Given the description of an element on the screen output the (x, y) to click on. 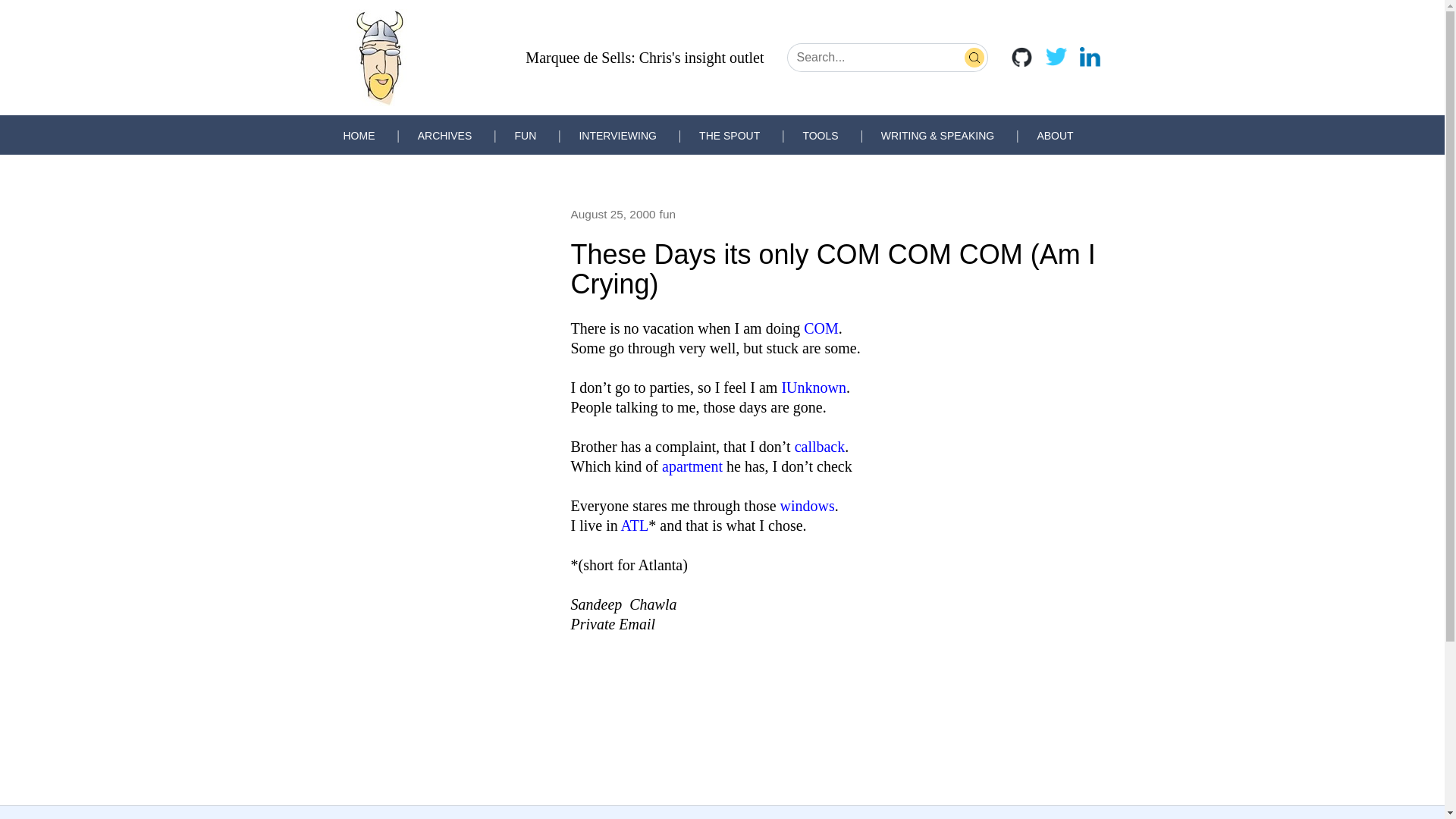
INTERVIEWING (617, 135)
ABOUT (1054, 135)
TOOLS (820, 135)
August 25, 2000 (612, 214)
THE SPOUT (729, 135)
ARCHIVES (444, 135)
HOME (358, 135)
Marquee de Sells: Chris's insight outlet (643, 57)
GitHub (1021, 56)
Twitter (1056, 56)
